Given the description of an element on the screen output the (x, y) to click on. 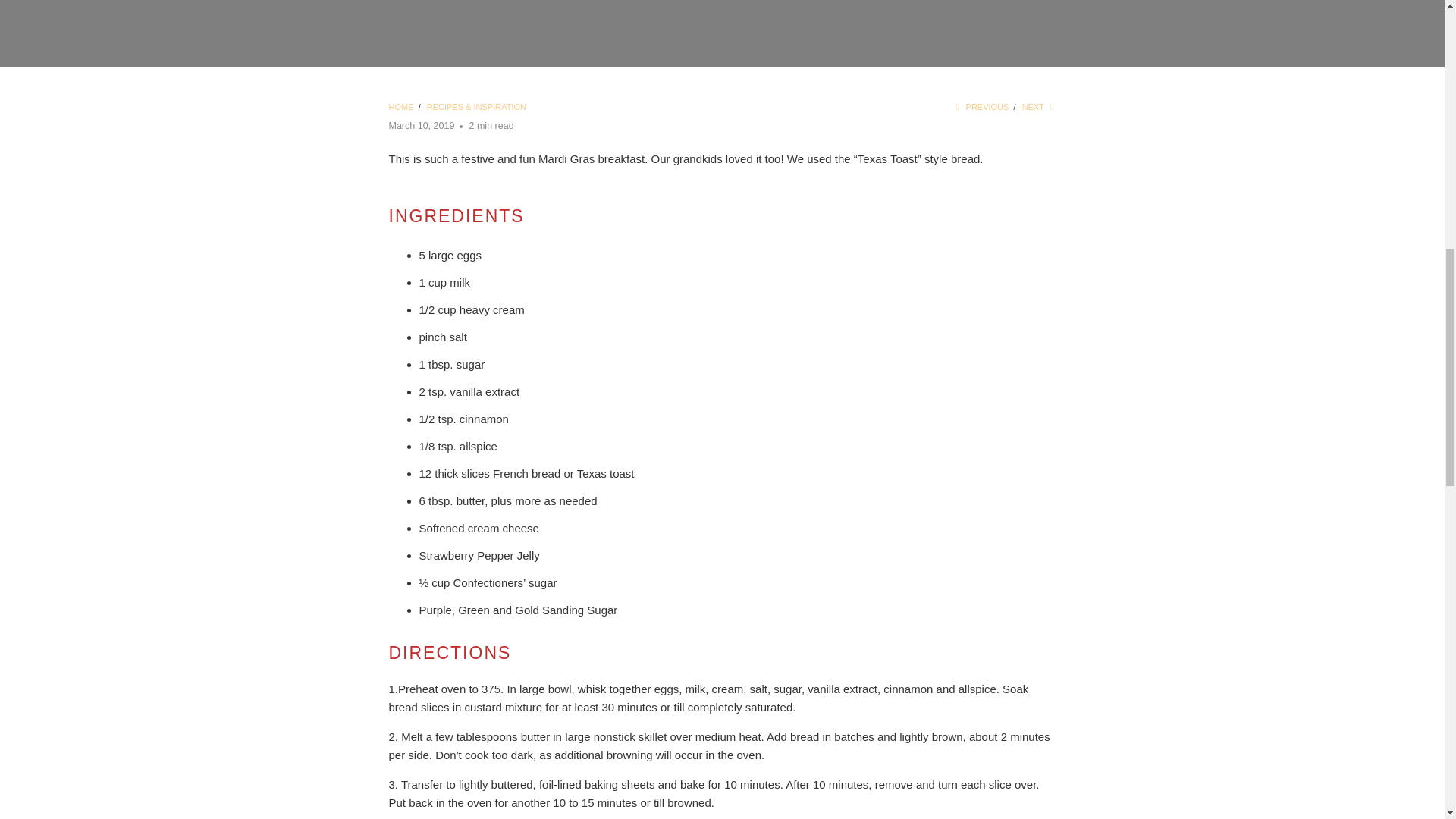
NEXT (1039, 106)
HOME (400, 106)
BullDogPepperJelly (400, 106)
PREVIOUS (980, 106)
